Given the description of an element on the screen output the (x, y) to click on. 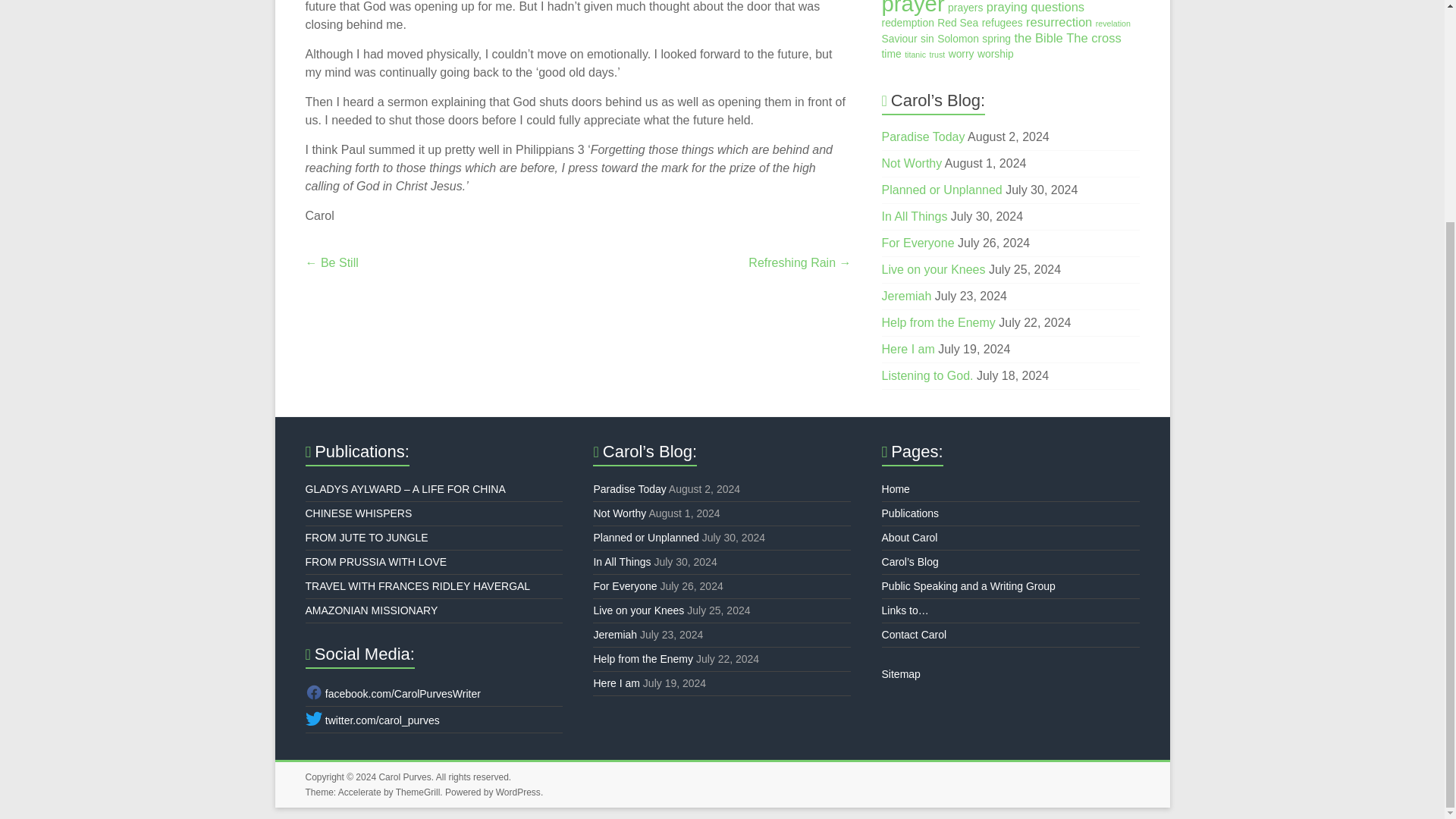
Accelerate (359, 792)
Carol Purves (404, 777)
WordPress (518, 792)
